Given the description of an element on the screen output the (x, y) to click on. 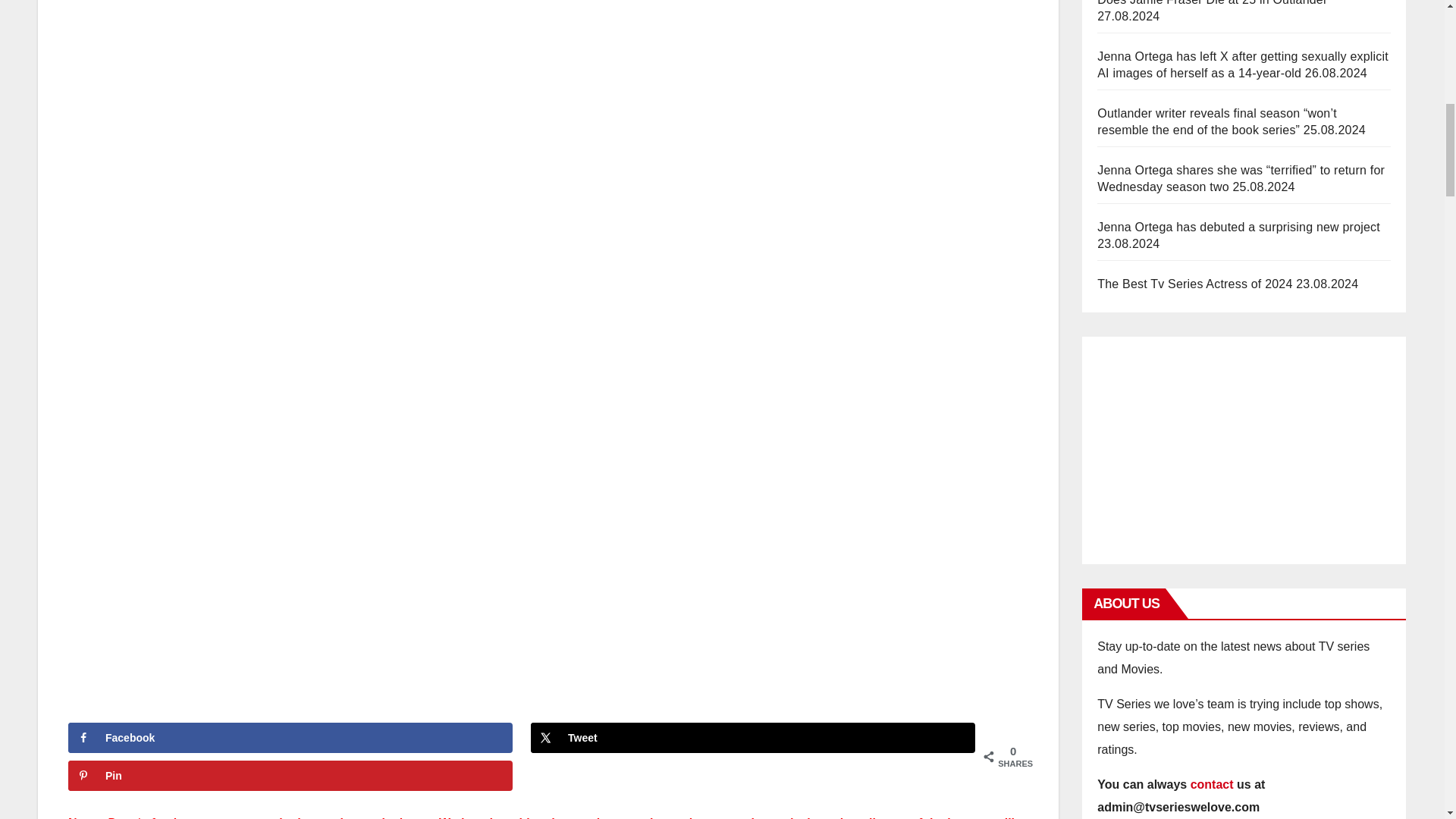
Tweet (753, 737)
Share on X (753, 737)
Facebook (290, 737)
Save to Pinterest (290, 775)
Pin (290, 775)
Share on Facebook (290, 737)
